Given the description of an element on the screen output the (x, y) to click on. 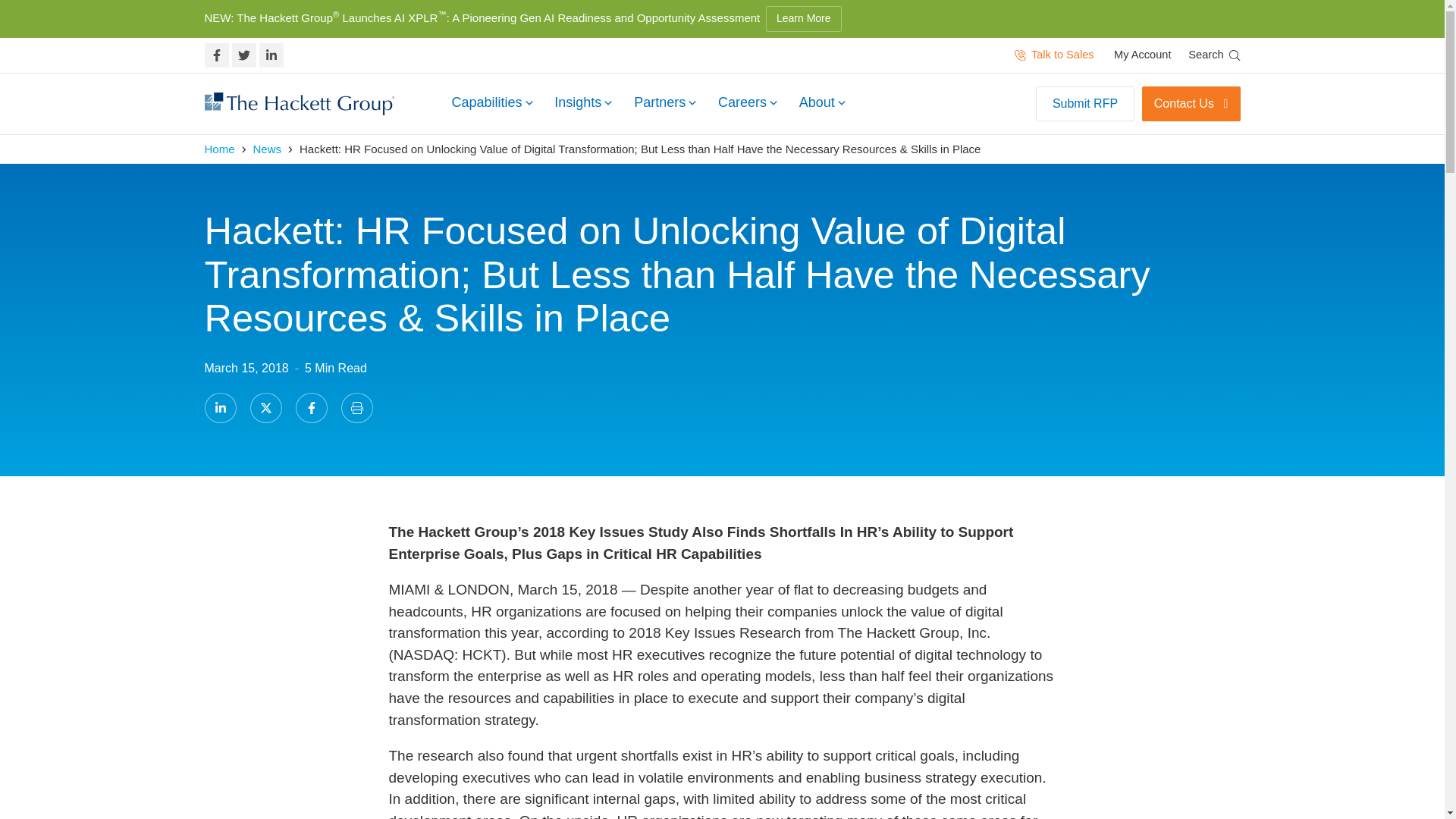
Learn More (803, 18)
Capabilities (492, 104)
Search (1214, 54)
menu-item-login (1141, 55)
My Account (1141, 55)
Talk to Sales (1053, 55)
